Given the description of an element on the screen output the (x, y) to click on. 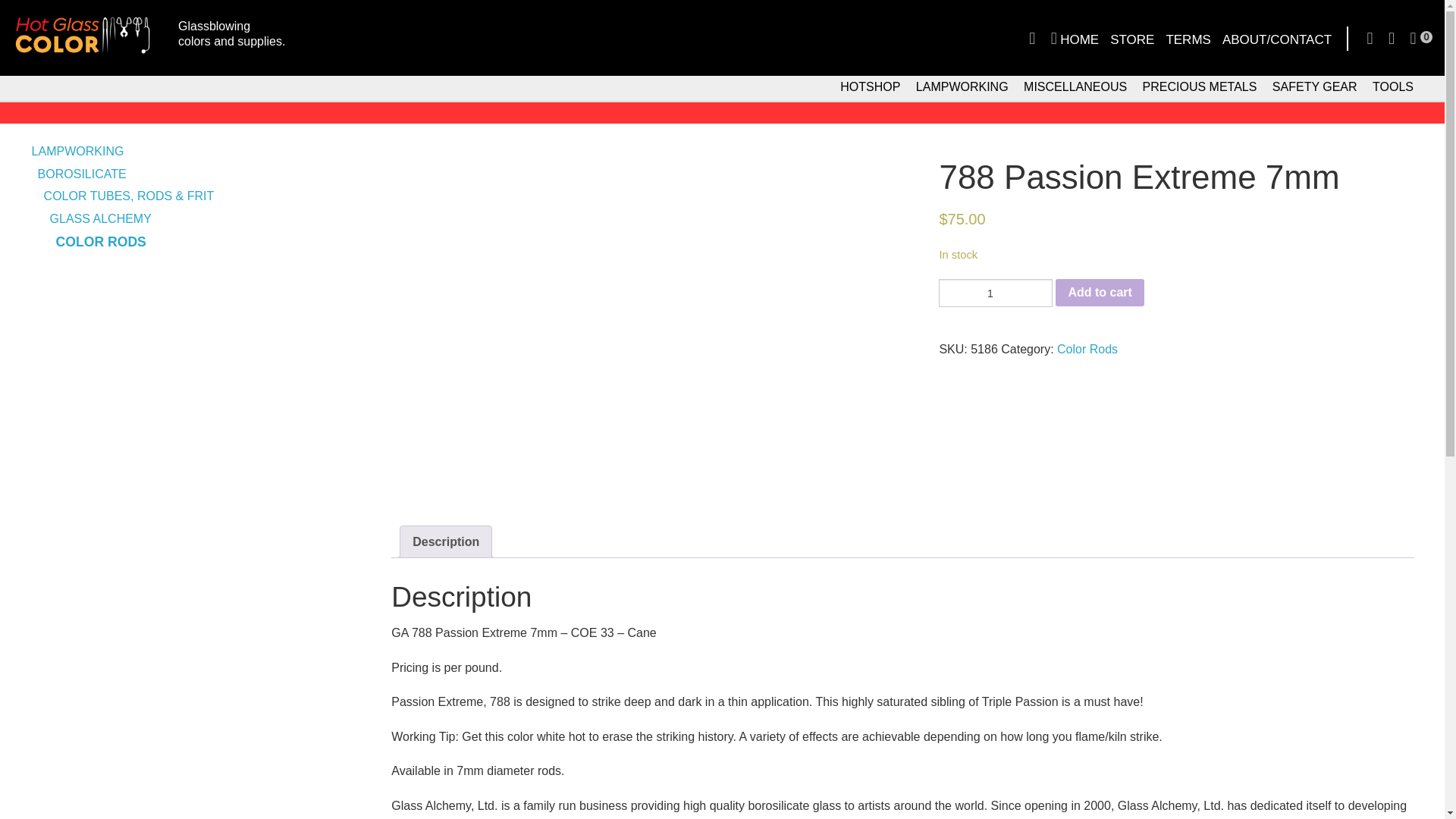
HOME (240, 35)
PRECIOUS METALS (1079, 40)
1 (1199, 87)
LAMPWORKING (995, 293)
MISCELLANEOUS (962, 87)
TOOLS (1074, 87)
SAFETY GEAR (1393, 87)
HOTSHOP (1314, 87)
TERMS (869, 87)
STORE (1188, 40)
